Given the description of an element on the screen output the (x, y) to click on. 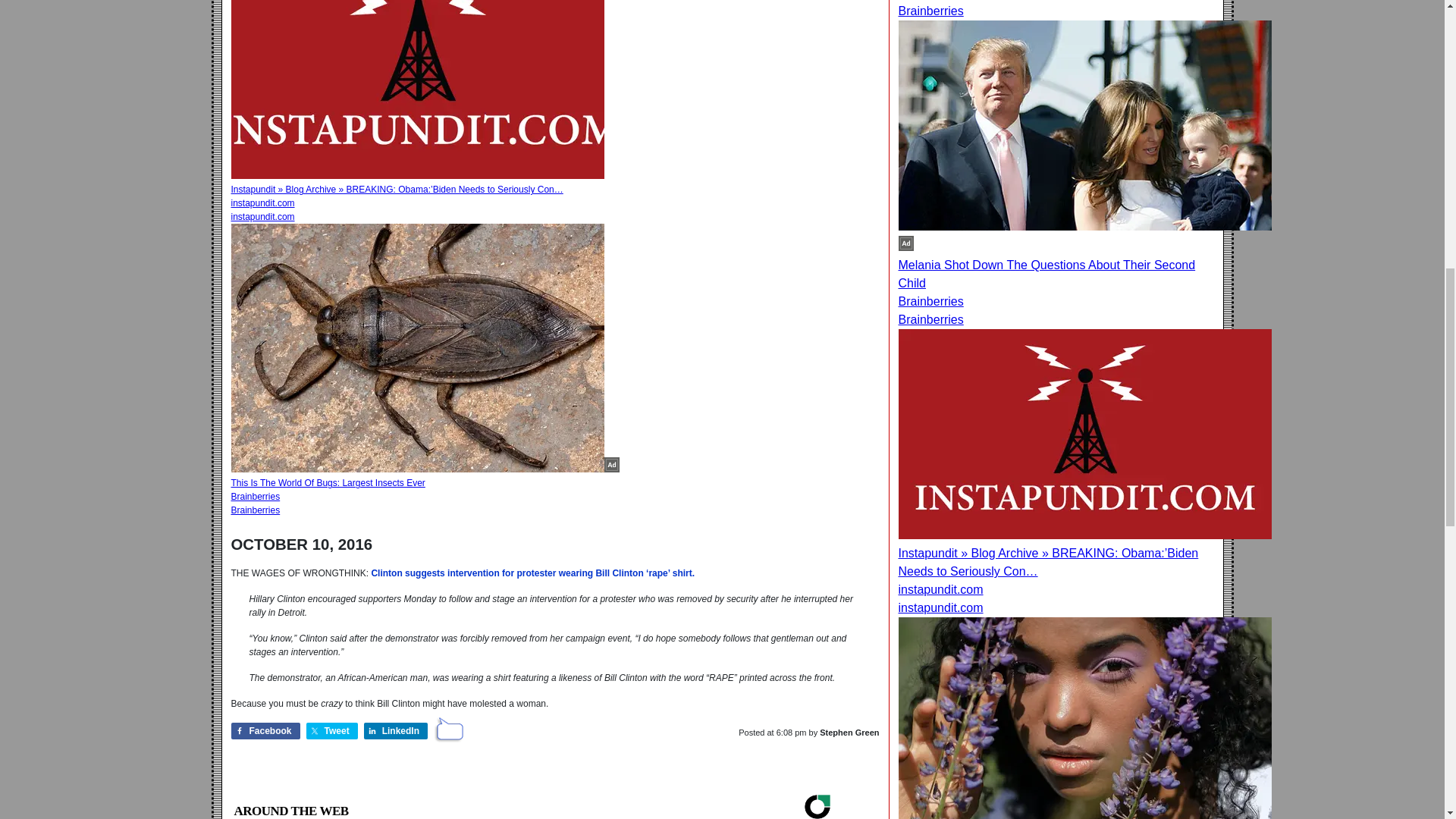
Share on LinkedIn (396, 730)
Tweet (331, 730)
Facebook (264, 730)
LinkedIn (396, 730)
Share on Facebook (264, 730)
Stephen Green (849, 732)
Share on Twitter (331, 730)
